Given the description of an element on the screen output the (x, y) to click on. 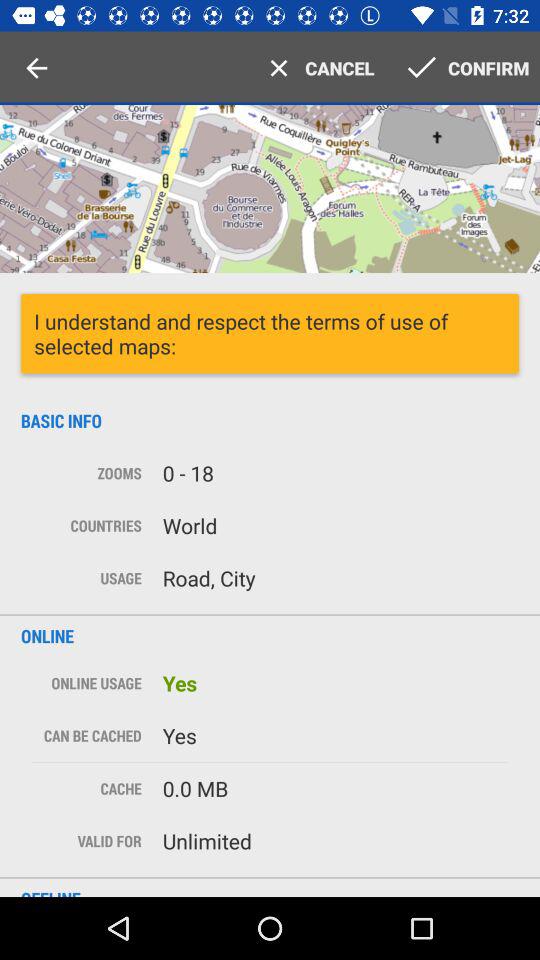
select the text which is to the immediate right of cache (334, 788)
select the text which is right to text countries (334, 526)
select the text which is right to can be cached (334, 736)
select the tab on the right side of text cancel (462, 68)
